Given the description of an element on the screen output the (x, y) to click on. 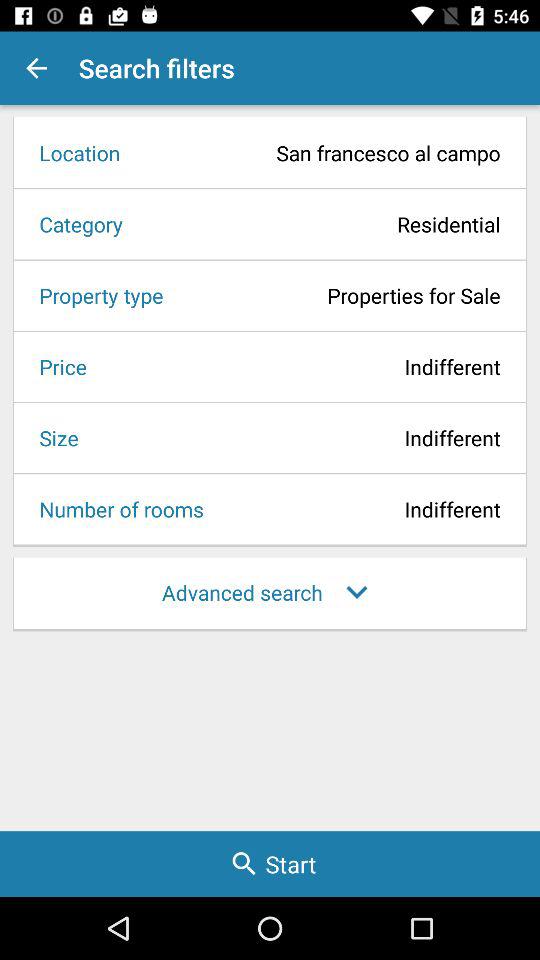
tap the icon to the left of properties for sale icon (94, 295)
